Given the description of an element on the screen output the (x, y) to click on. 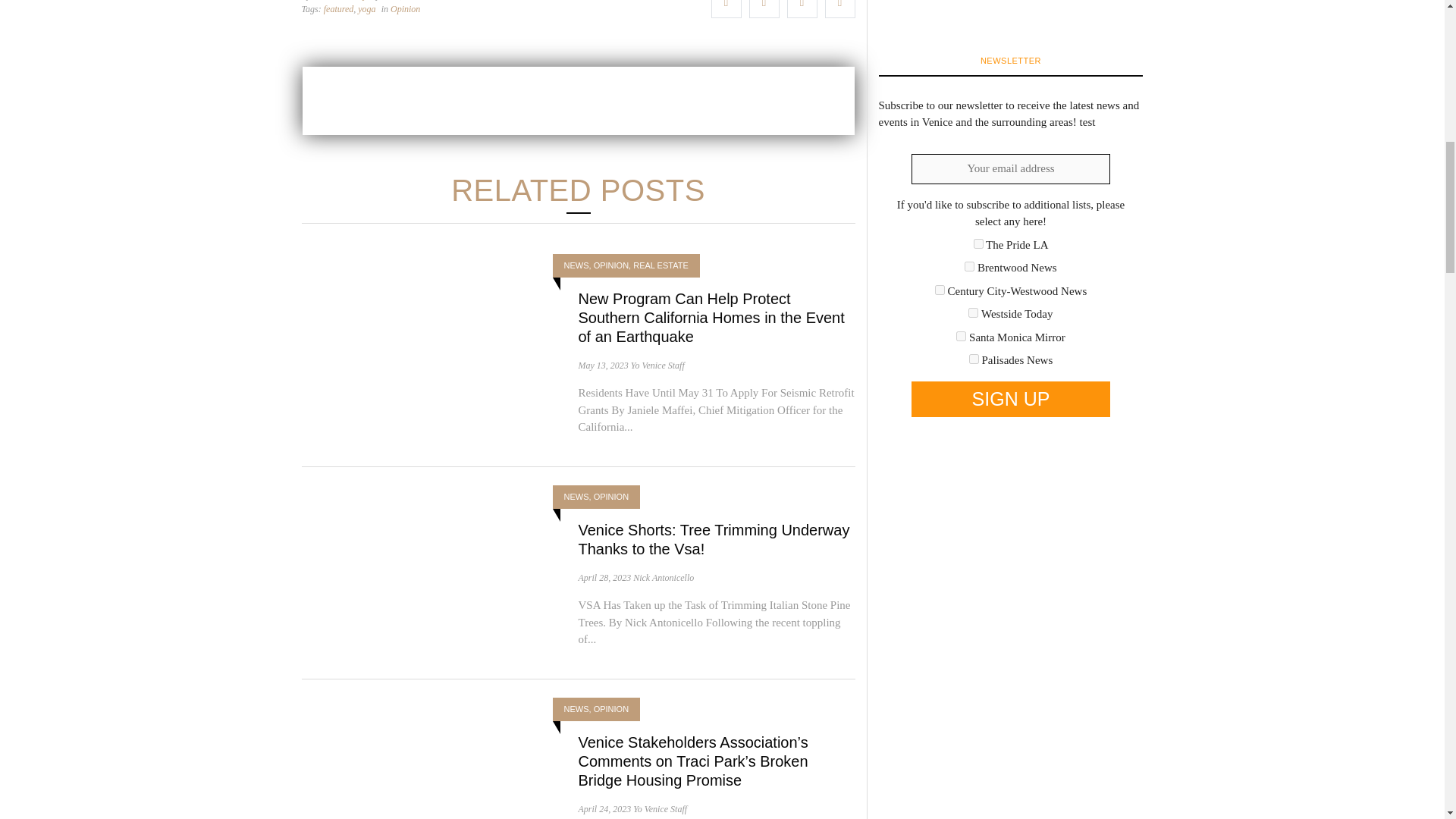
Opinion (405, 8)
33f79e7e4d (979, 243)
featured (338, 8)
Sign up (1010, 399)
yoga (366, 8)
d0b5733862 (961, 336)
Posts by Yo Venice Staff (657, 365)
ec7d882848 (973, 358)
a3d1b6d535 (973, 312)
Venice Shorts: Tree Trimming Underway Thanks to the Vsa! (713, 539)
